Given the description of an element on the screen output the (x, y) to click on. 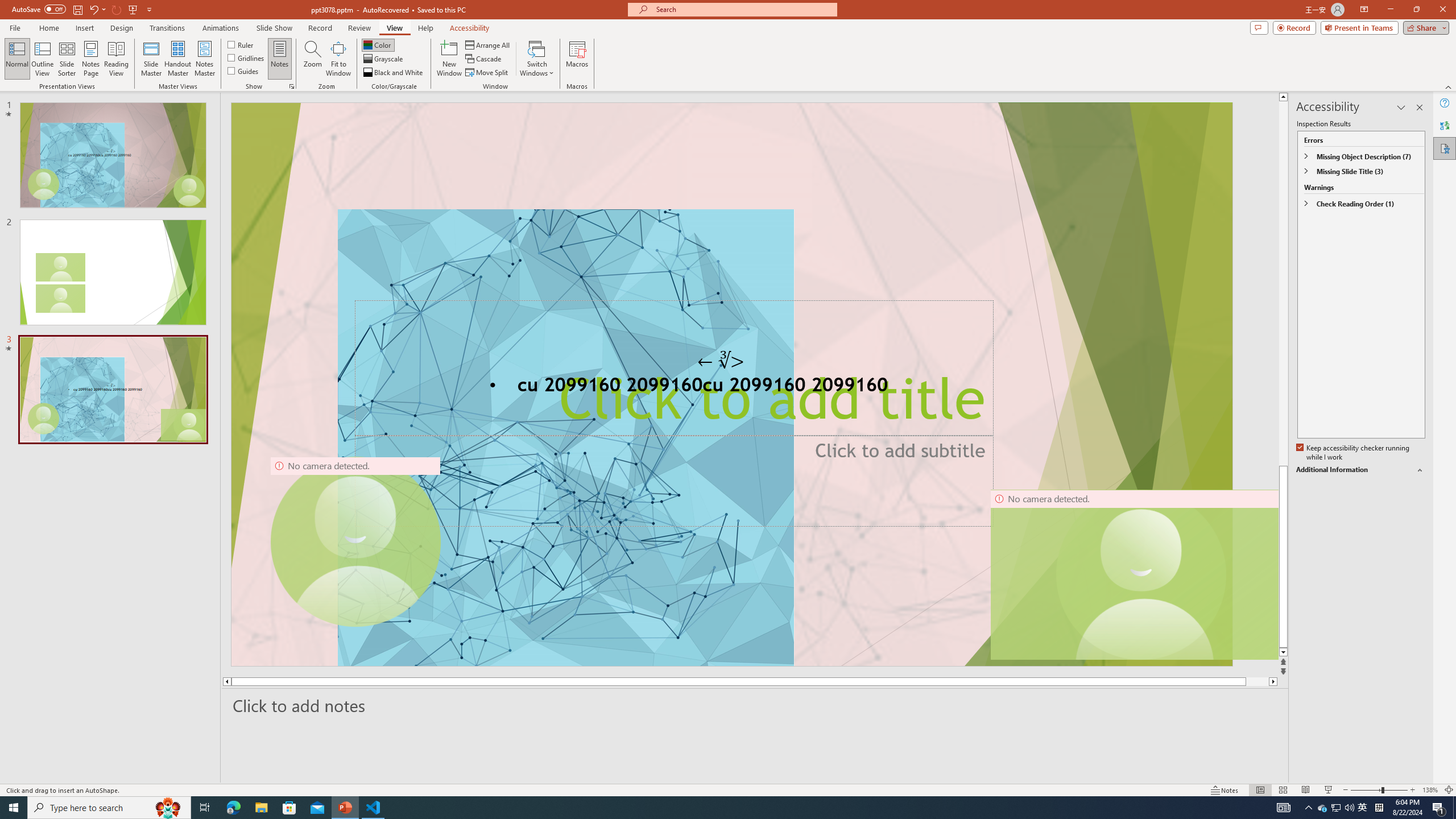
Share (1423, 27)
Save (77, 9)
Handout Master (177, 58)
Transitions (167, 28)
Line down (1283, 652)
Ruler (241, 44)
Zoom... (312, 58)
Minimize (1390, 9)
Line up (1283, 96)
View (395, 28)
Keep accessibility checker running while I work (1353, 452)
Translator (1444, 125)
Camera 14, No camera detected. (1134, 574)
Additional Information (1360, 469)
